Given the description of an element on the screen output the (x, y) to click on. 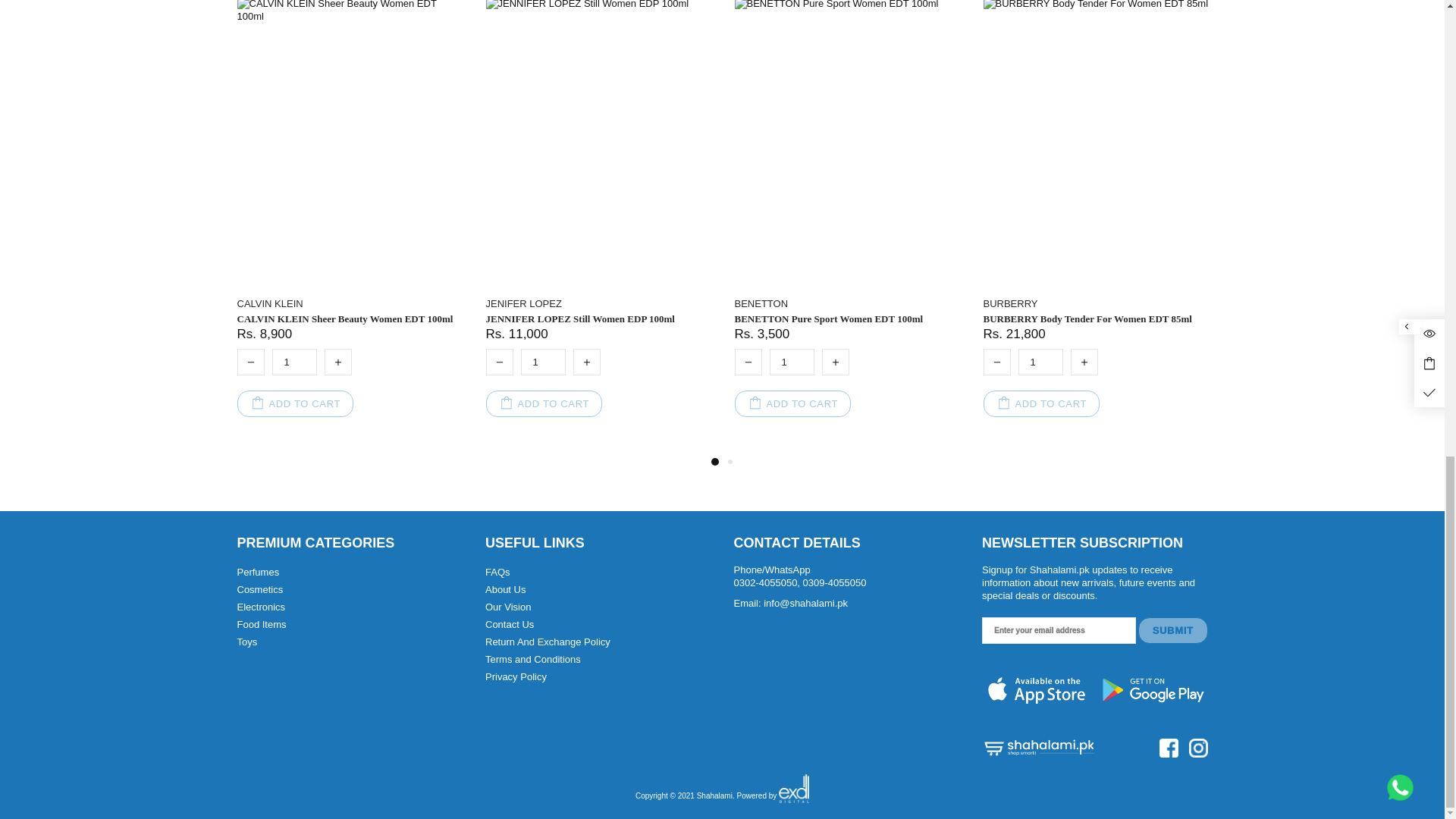
Submit (1173, 630)
1 (541, 361)
1 (292, 361)
ExD Digital (793, 796)
1 (1039, 361)
1 (790, 361)
